Given the description of an element on the screen output the (x, y) to click on. 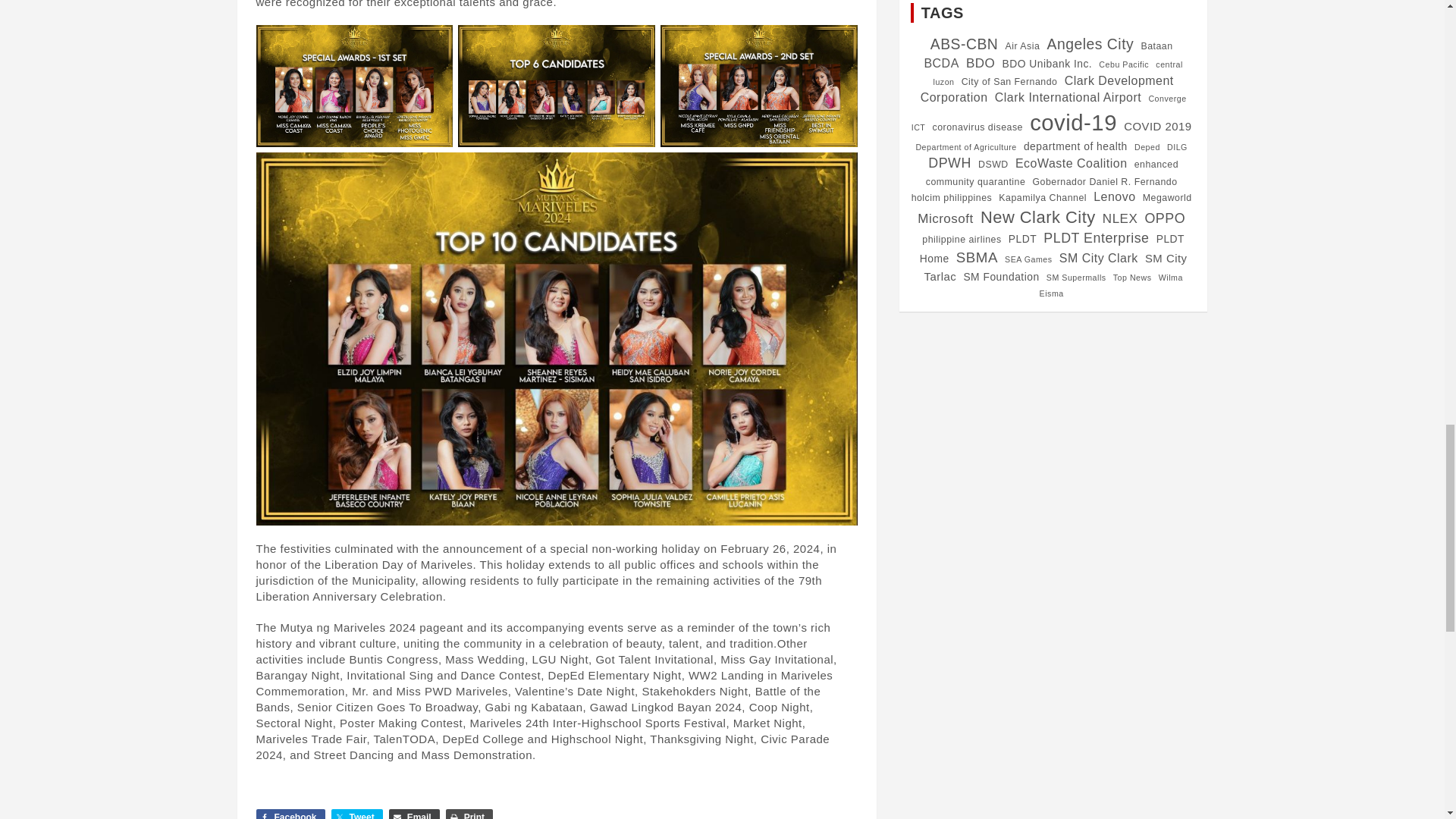
Share via Email (413, 814)
Share on Twitter (356, 814)
Share on Facebook (290, 814)
Print this Page (469, 814)
Email (413, 814)
